Given the description of an element on the screen output the (x, y) to click on. 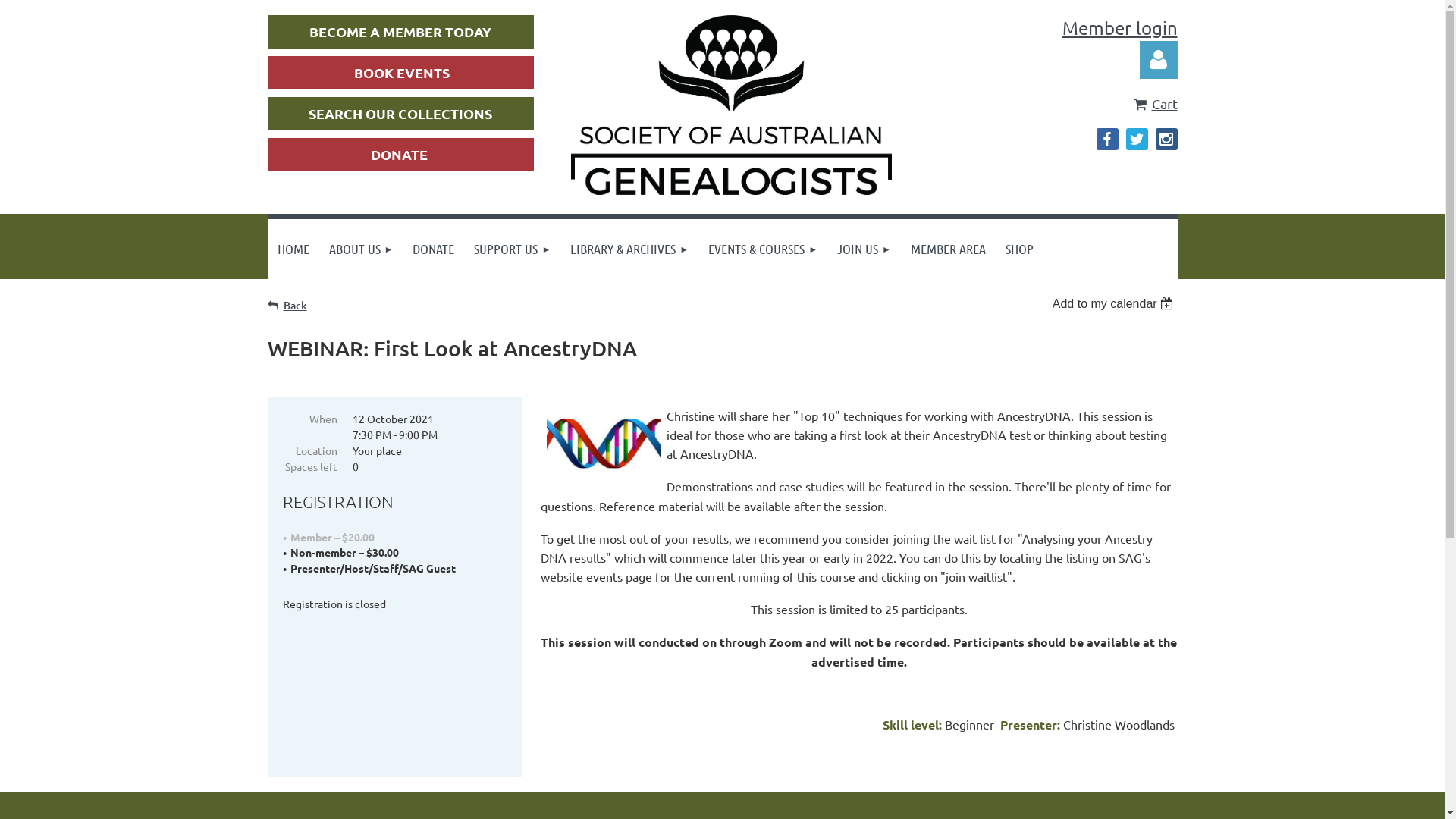
Back Element type: text (286, 305)
ABOUT US Element type: text (360, 249)
MEMBER AREA Element type: text (947, 249)
DONATE Element type: text (399, 154)
DONATE Element type: text (433, 249)
EVENTS & COURSES Element type: text (762, 249)
SHOP Element type: text (1019, 249)
Log in Element type: text (1157, 59)
BECOME A MEMBER TODAY Element type: text (400, 31)
SEARCH OUR COLLECTIONS Element type: text (400, 113)
LIBRARY & ARCHIVES Element type: text (629, 249)
Member login Element type: text (1118, 27)
SUPPORT US Element type: text (512, 249)
JOIN US Element type: text (863, 249)
Instagram Element type: hover (1166, 139)
Cart Element type: text (1154, 103)
BOOK EVENTS Element type: text (401, 72)
Facebook Element type: hover (1107, 139)
Twitter Element type: hover (1136, 139)
HOME Element type: text (292, 249)
